Given the description of an element on the screen output the (x, y) to click on. 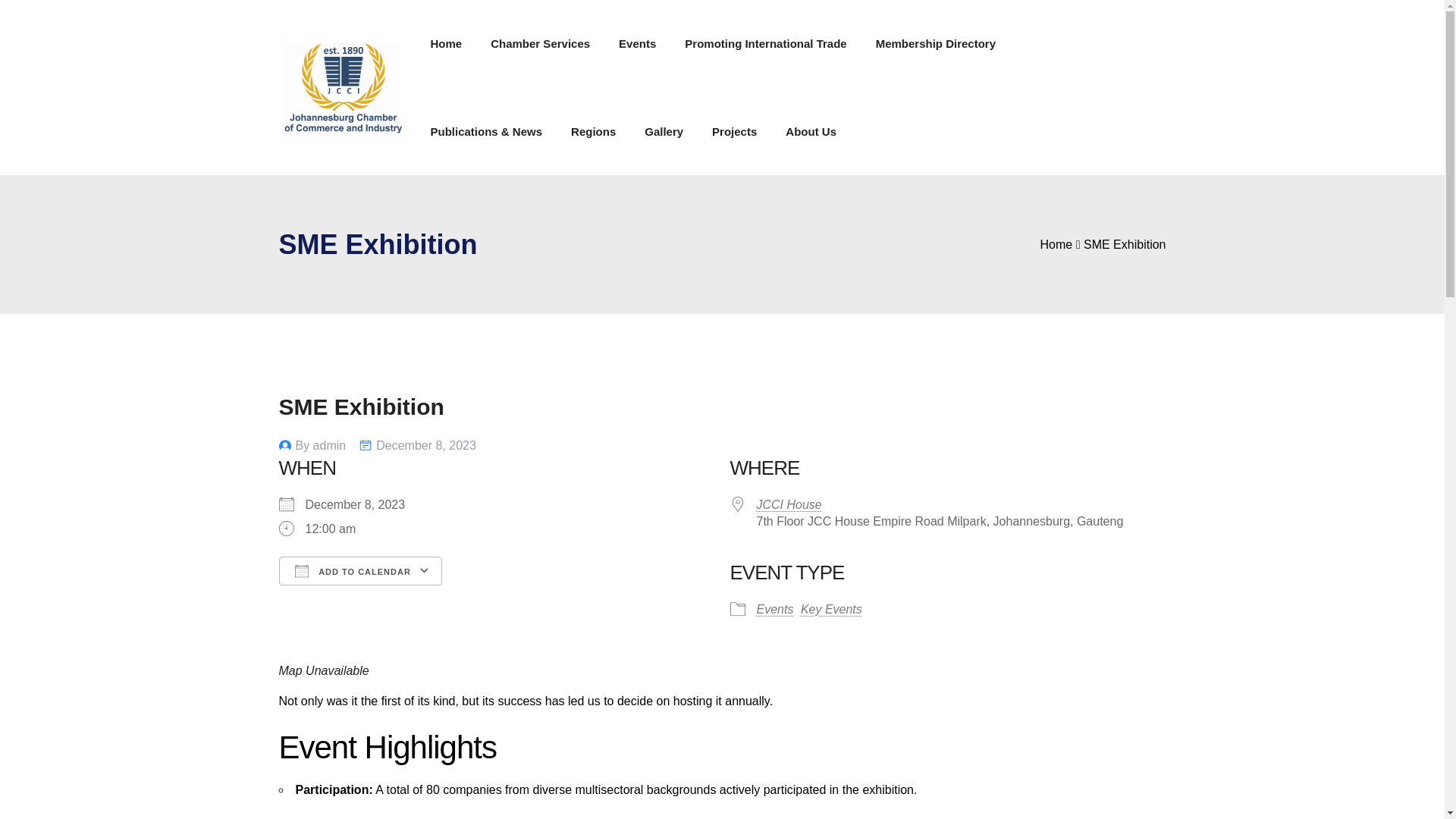
Home (446, 42)
Events (637, 42)
Membership Directory (935, 42)
Chamber Services (539, 42)
Promoting International Trade (764, 42)
